Given the description of an element on the screen output the (x, y) to click on. 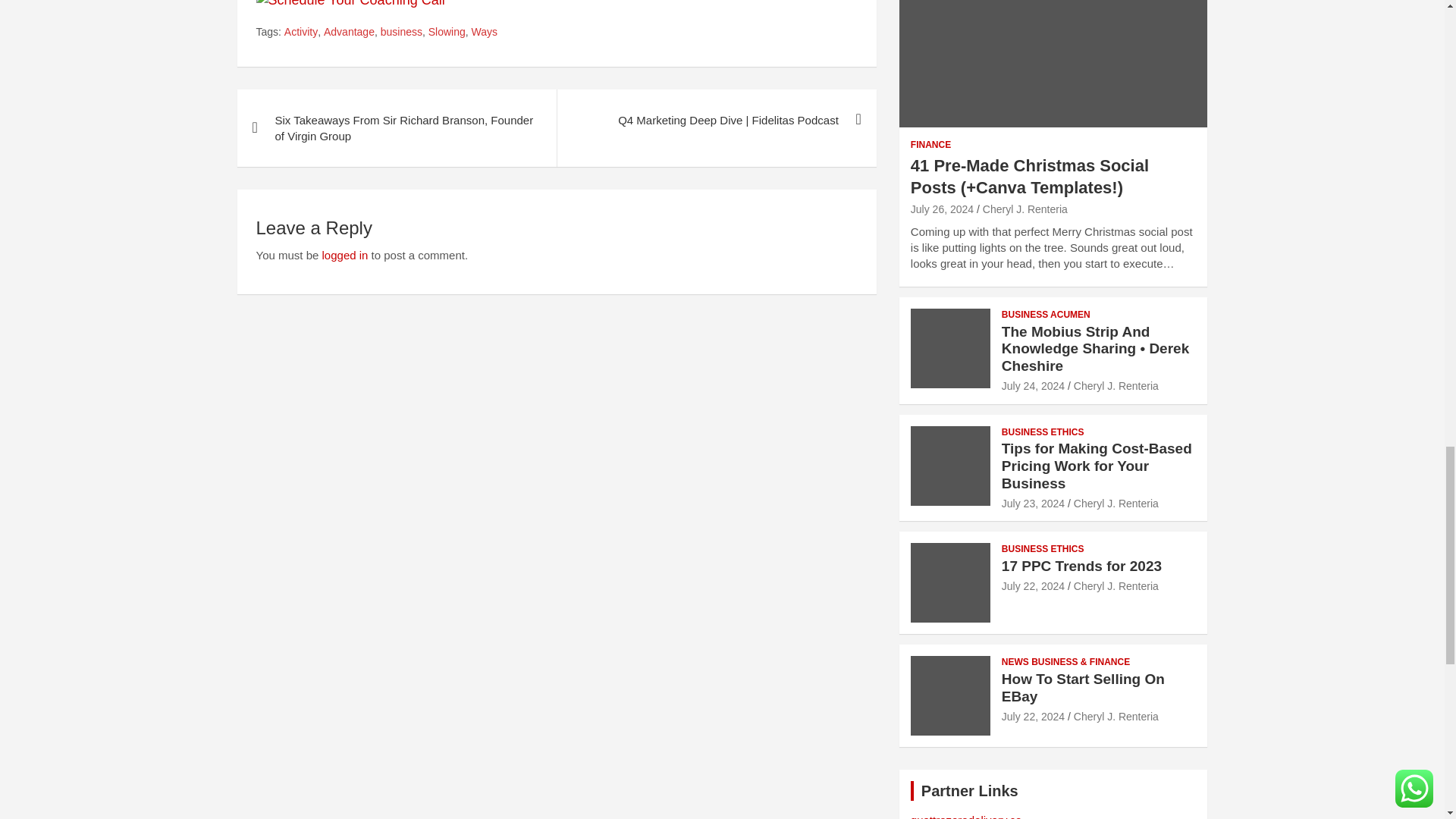
Ways (484, 32)
Advantage (348, 32)
logged in (344, 254)
business (401, 32)
Slowing (446, 32)
Activity (300, 32)
